Given the description of an element on the screen output the (x, y) to click on. 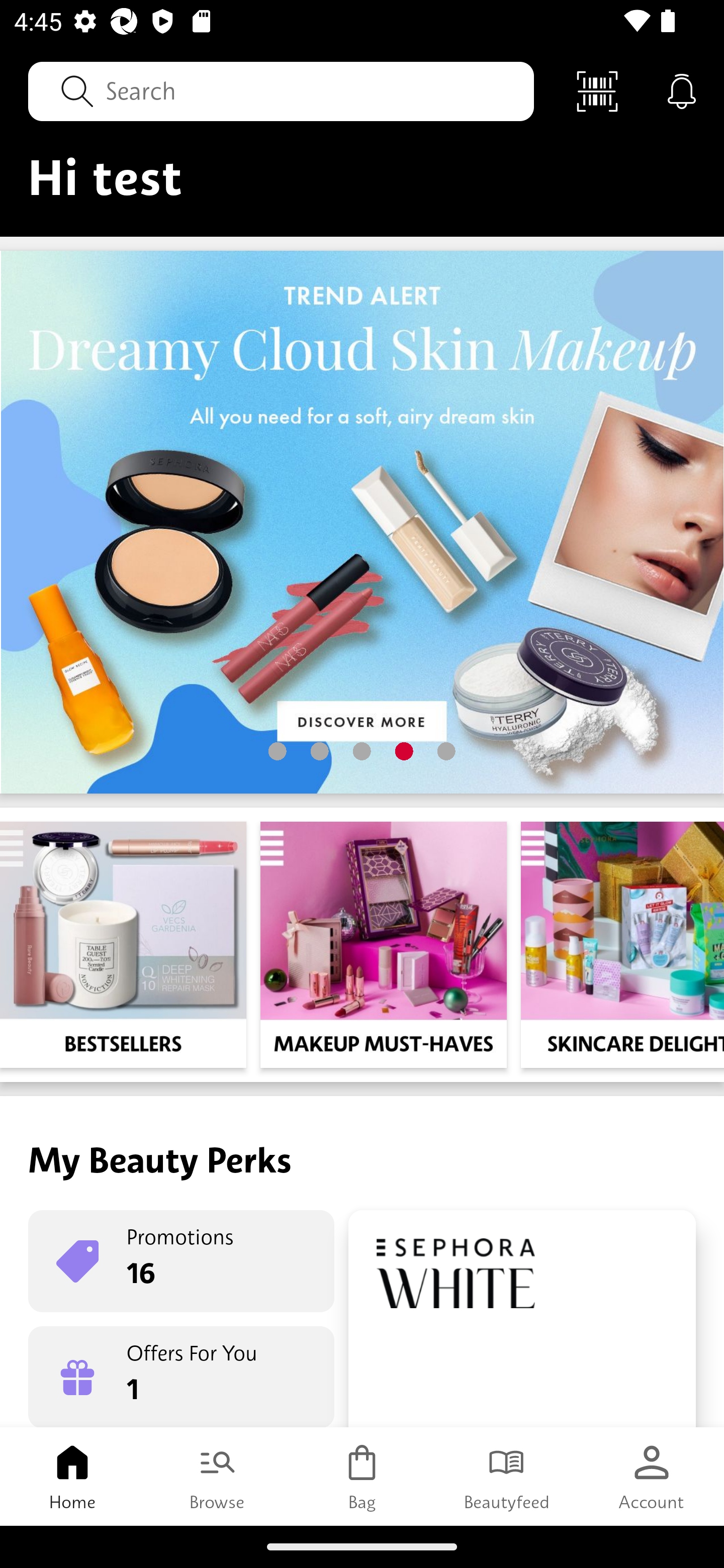
Scan Code (597, 90)
Notifications (681, 90)
Search (281, 90)
Promotions 16 (181, 1261)
Rewards Boutique 90 Pts (521, 1318)
Offers For You 1 (181, 1376)
Browse (216, 1475)
Bag (361, 1475)
Beautyfeed (506, 1475)
Account (651, 1475)
